Given the description of an element on the screen output the (x, y) to click on. 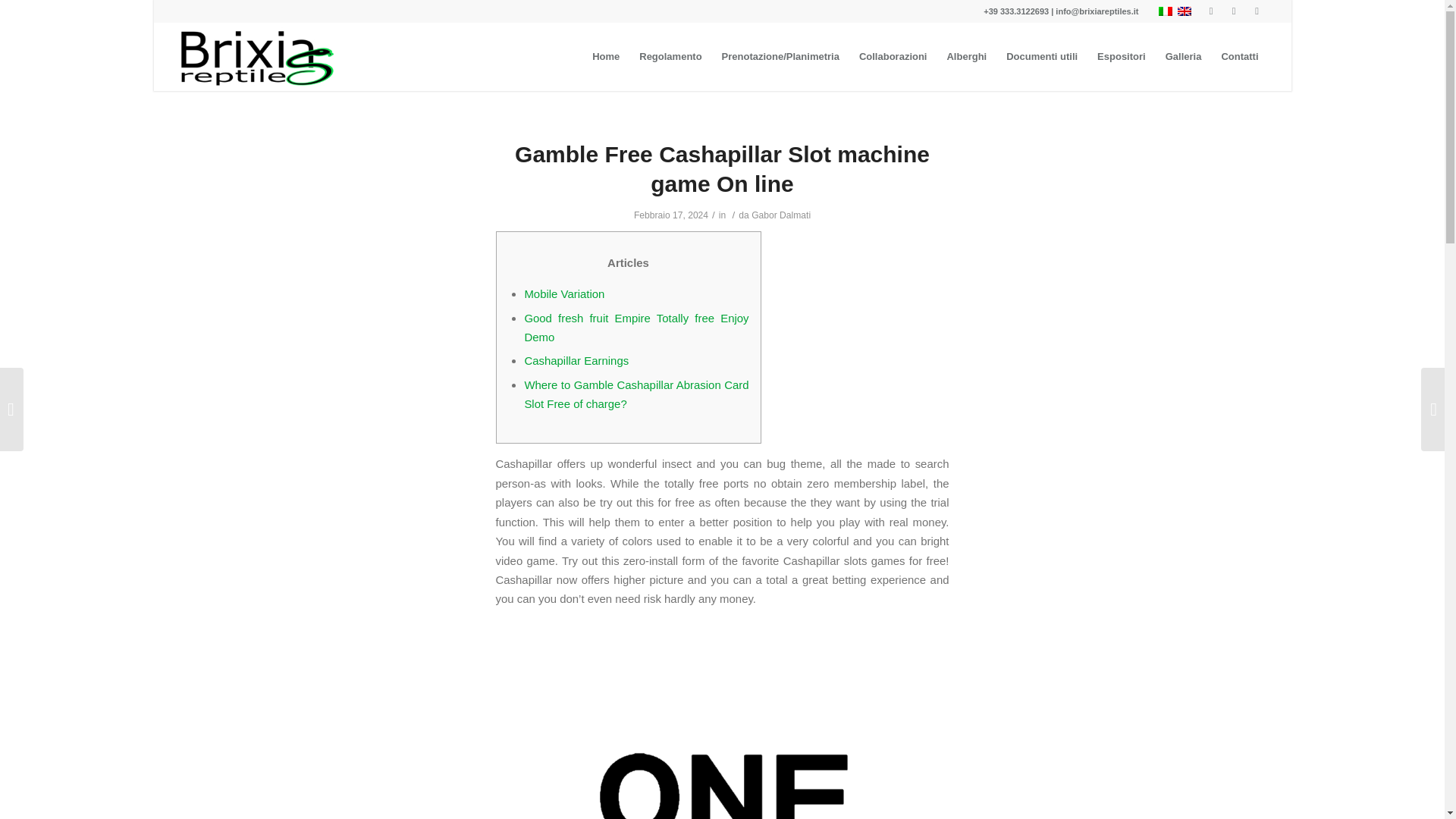
Articoli scritti da Gabor Dalmati (780, 214)
Gabor Dalmati (780, 214)
Documenti utili (1041, 56)
Cashapillar Earnings (576, 359)
Regolamento (669, 56)
Mobile Variation (564, 293)
Good fresh fruit Empire Totally free Enjoy Demo (636, 327)
Collaborazioni (892, 56)
